Given the description of an element on the screen output the (x, y) to click on. 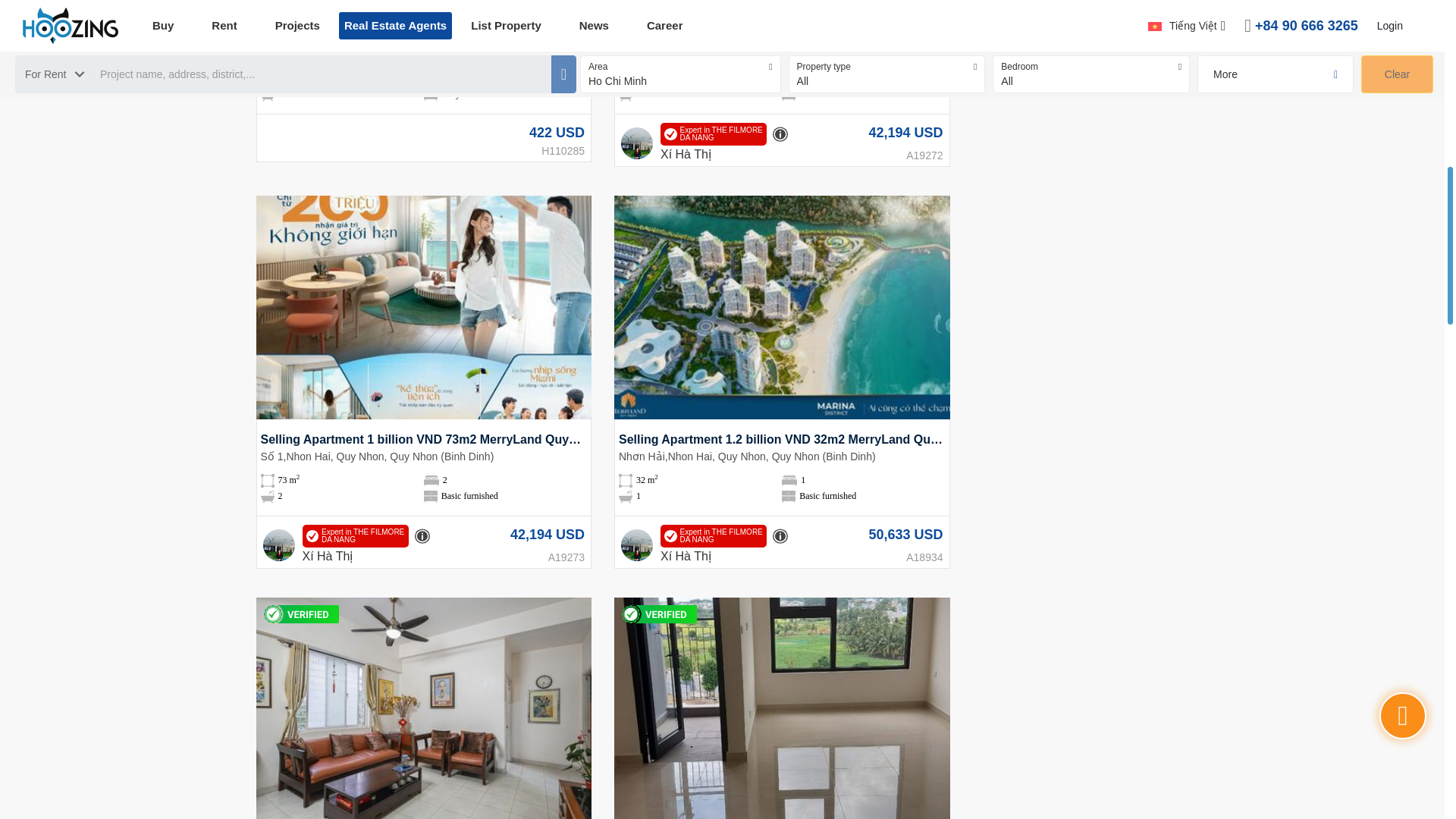
Selling Apartment 1.2 billion VND 32m2 MerryLand Quy Nhon (781, 439)
Cozy 1 bedroom apartment in Vinhomes Central Park (424, 37)
Apartment for sale 1 billion VND 7m2 MerryLand Quy Nhon (781, 37)
Selling Apartment 1 billion VND 73m2 MerryLand Quy Nhon (424, 439)
